Given the description of an element on the screen output the (x, y) to click on. 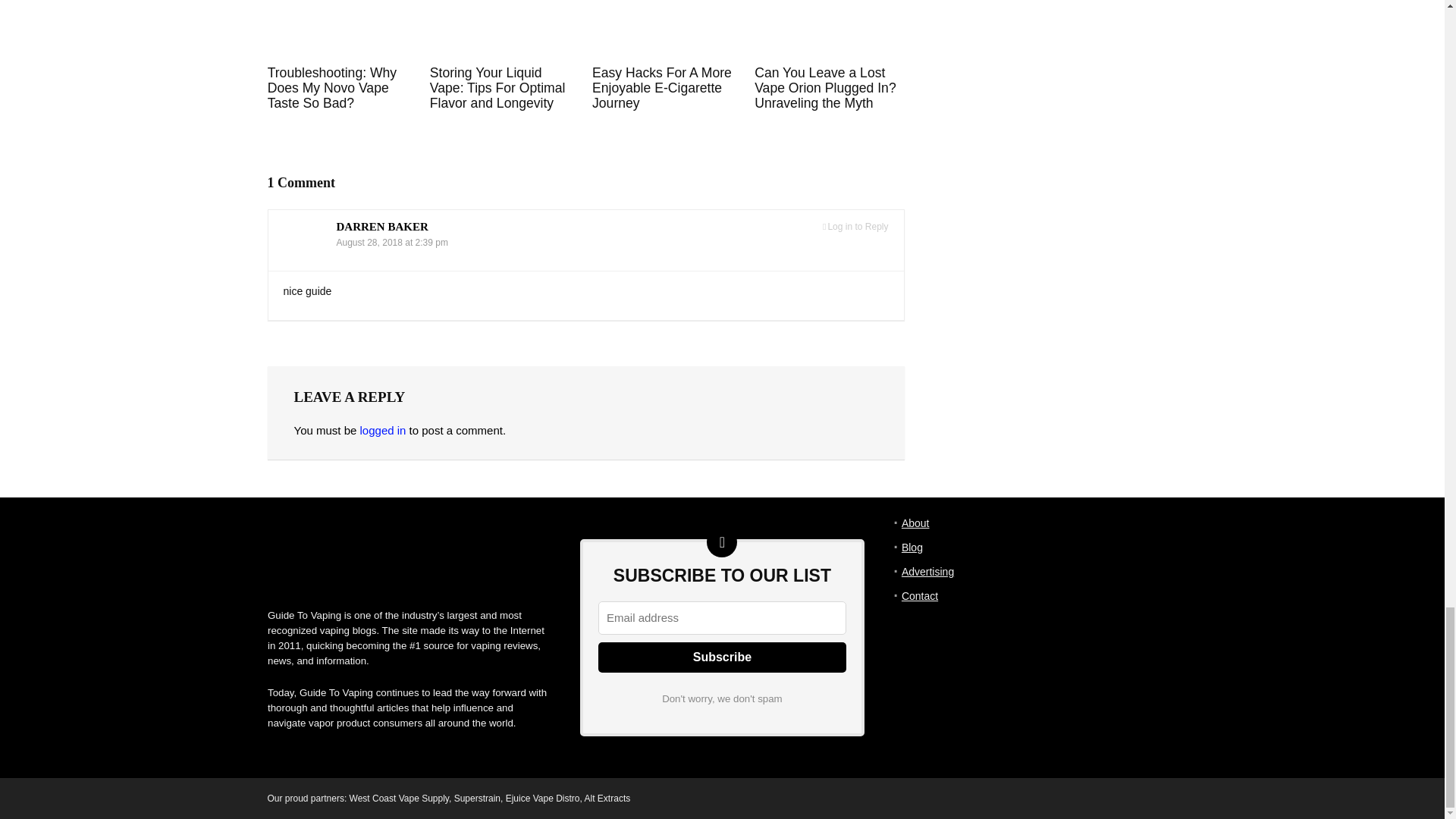
Subscribe (721, 657)
logged in (382, 430)
Log in to Reply (855, 226)
Troubleshooting: Why Does My Novo Vape Taste So Bad? (331, 87)
Easy Hacks For A More Enjoyable E-Cigarette Journey (662, 87)
August 28, 2018 at 2:39 pm (392, 242)
